Given the description of an element on the screen output the (x, y) to click on. 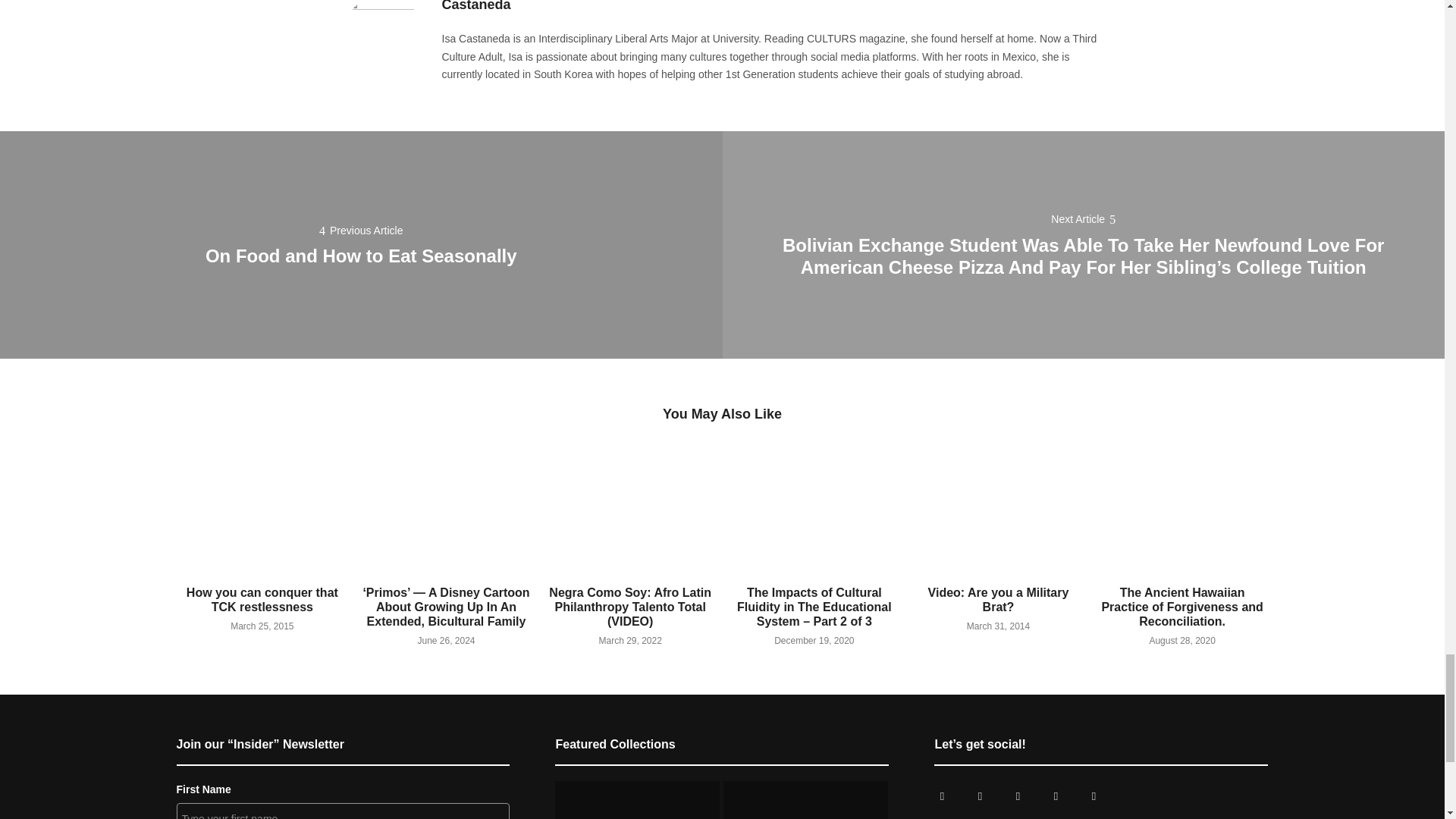
Culturs (1017, 796)
Cultursmag (941, 796)
Cultursmag (978, 796)
